Given the description of an element on the screen output the (x, y) to click on. 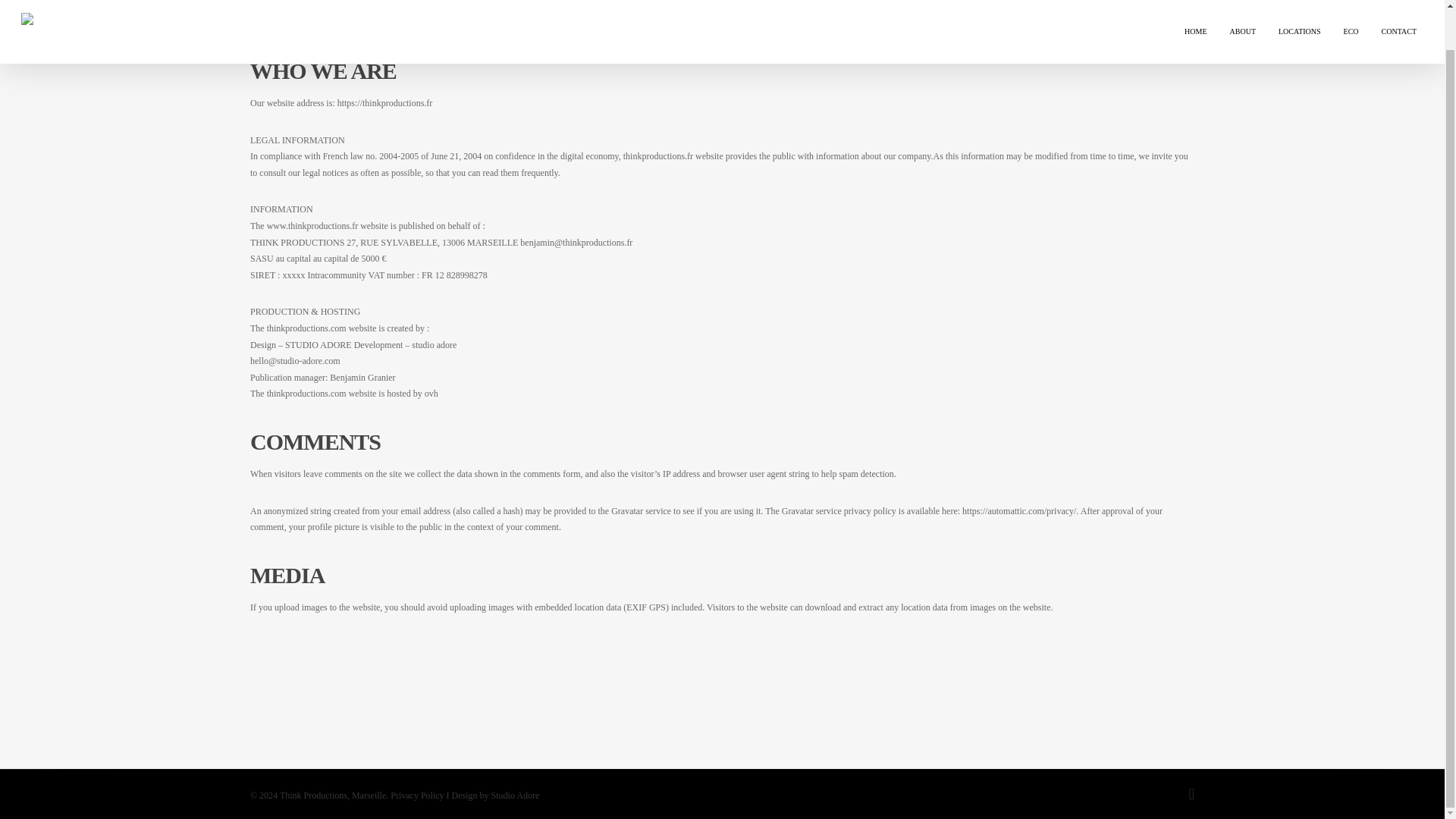
Privacy Policy (417, 753)
Studio Adore (516, 753)
